Given the description of an element on the screen output the (x, y) to click on. 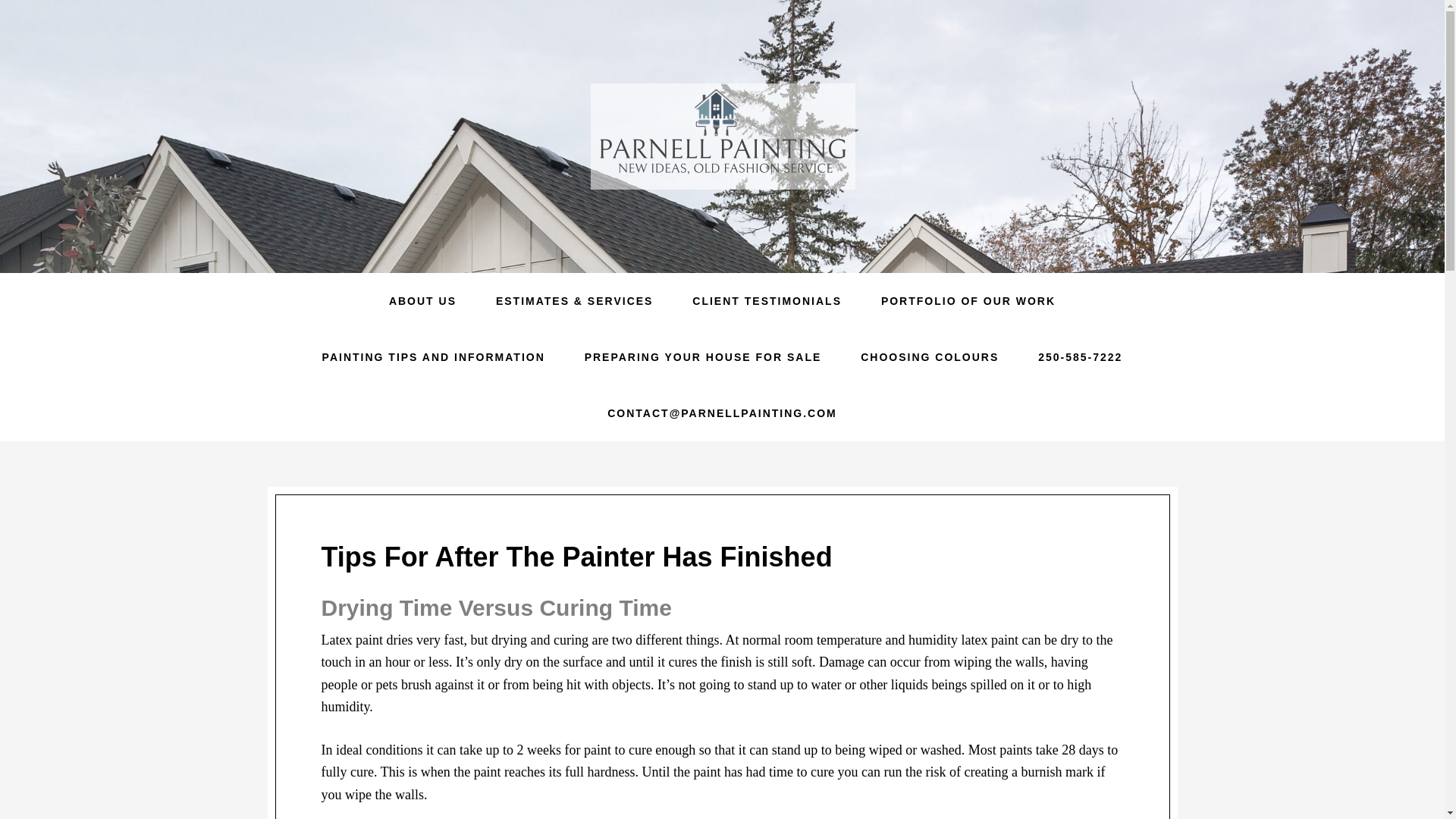
PARNELL PAINTING (722, 136)
CHOOSING COLOURS (929, 356)
PORTFOLIO OF OUR WORK (968, 300)
PAINTING TIPS AND INFORMATION (433, 356)
250-585-7222 (1080, 356)
CLIENT TESTIMONIALS (767, 300)
ABOUT US (422, 300)
PREPARING YOUR HOUSE FOR SALE (703, 356)
